Given the description of an element on the screen output the (x, y) to click on. 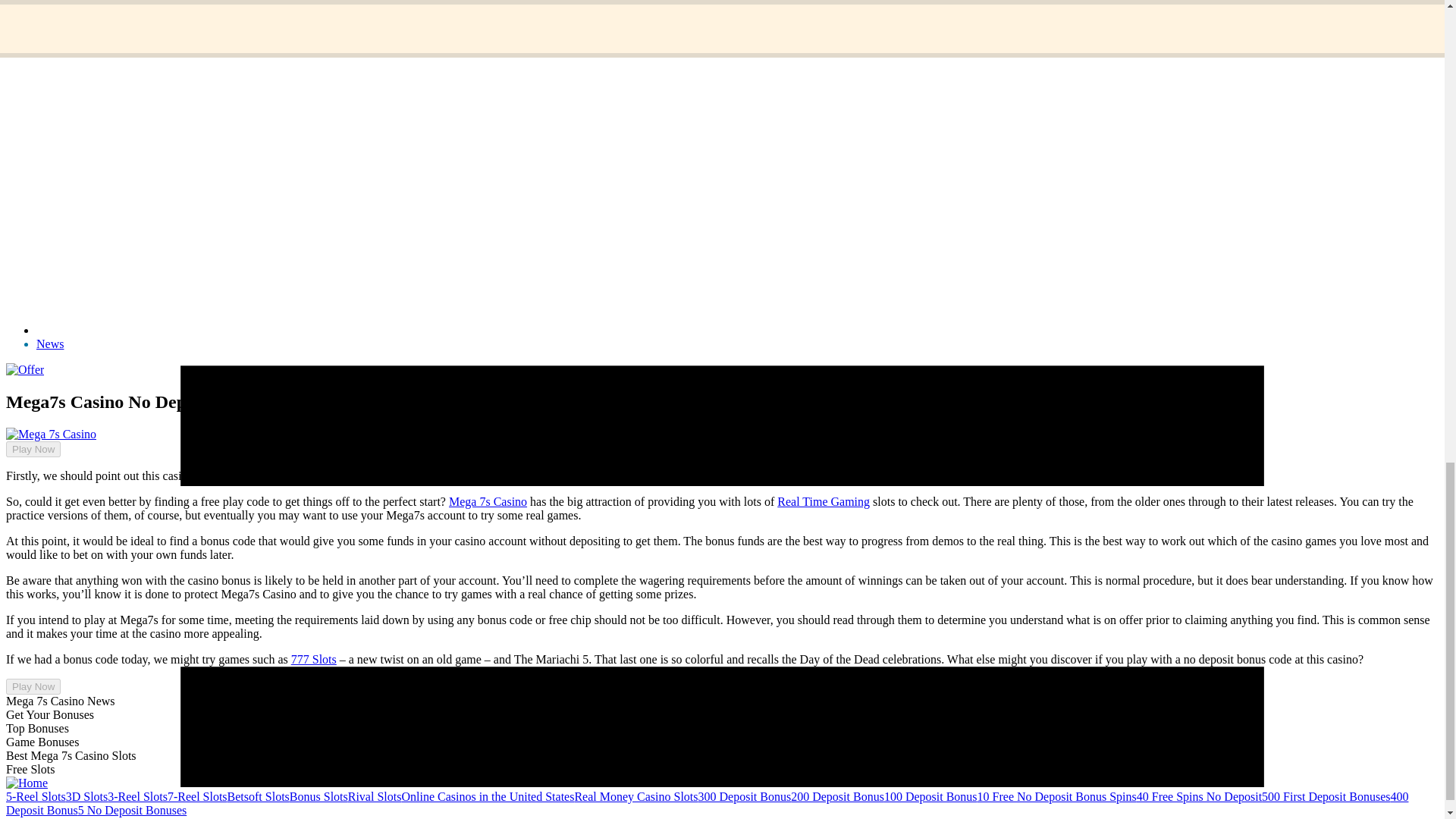
Real Time Gaming (823, 501)
300 Deposit Bonus (745, 796)
Real Money Casino Slots (635, 796)
100 Deposit Bonus (929, 796)
News (50, 343)
3D Slots (86, 796)
Betsoft Slots (258, 796)
200 Deposit Bonus (836, 796)
400 Deposit Bonus (706, 803)
40 Free Spins No Deposit (1199, 796)
